Given the description of an element on the screen output the (x, y) to click on. 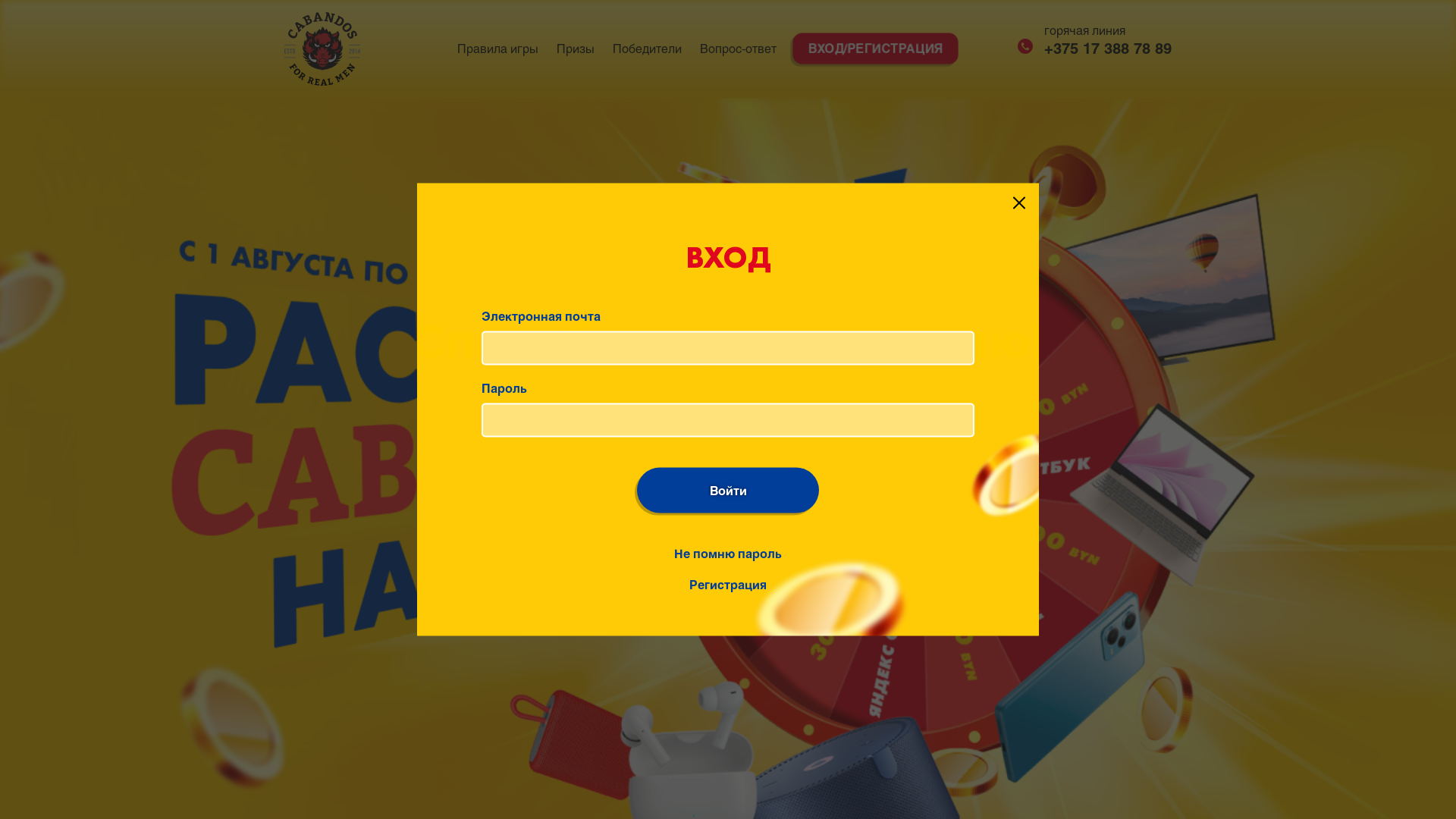
+375 17 388 78 89 Element type: text (1094, 48)
